Given the description of an element on the screen output the (x, y) to click on. 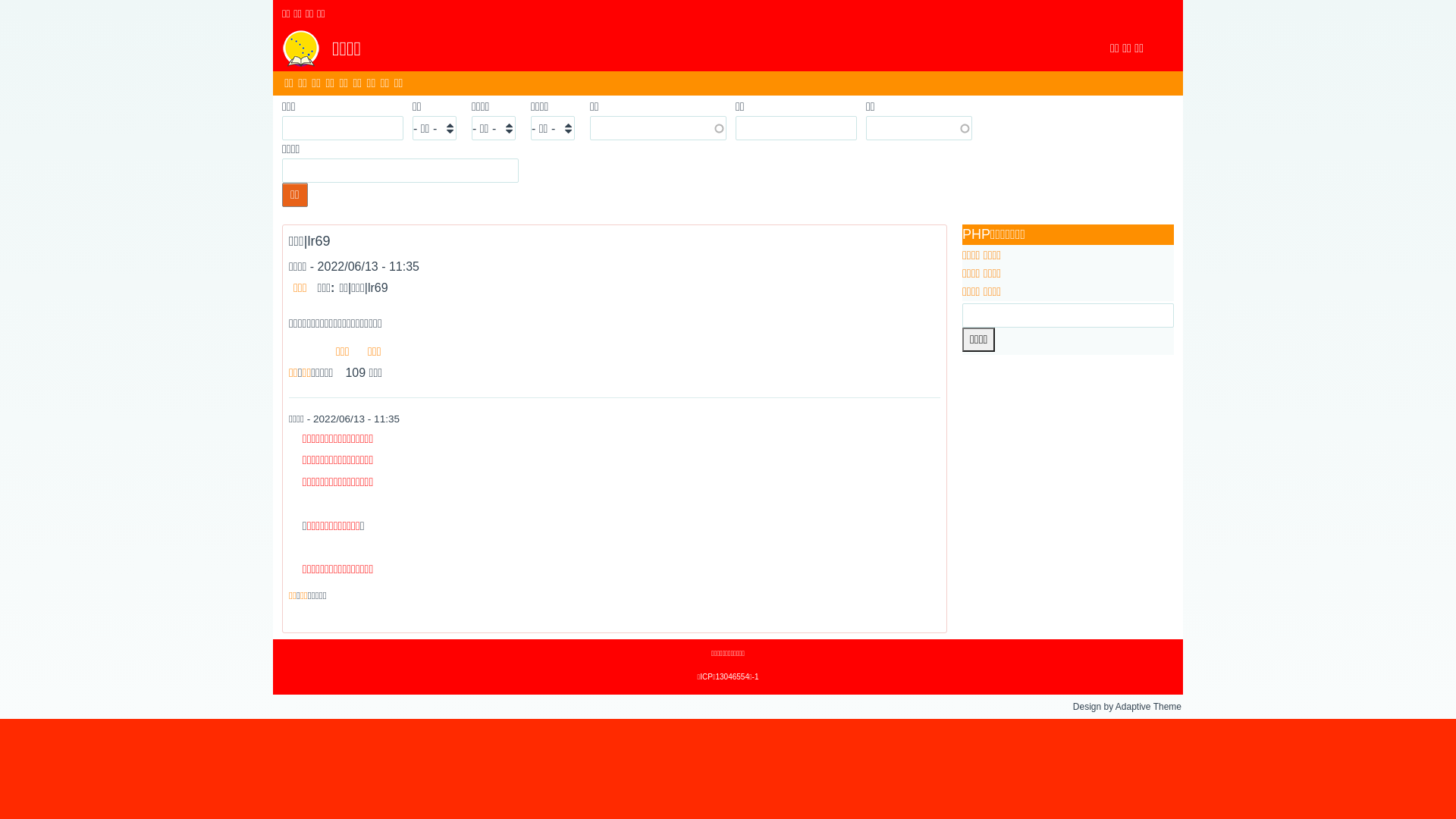
Design by Adaptive Theme Element type: text (1127, 706)
